Given the description of an element on the screen output the (x, y) to click on. 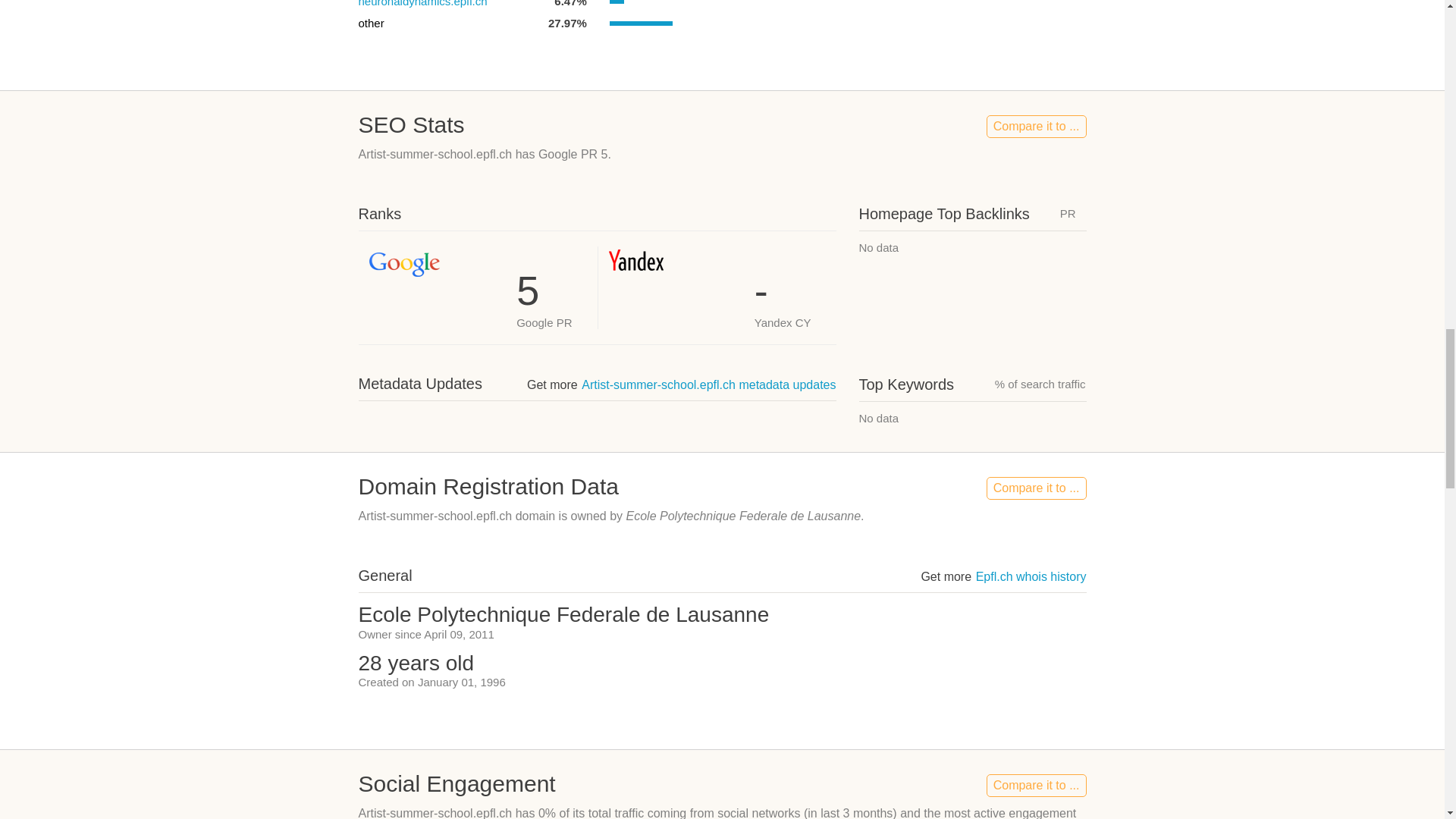
neuronaldynamics.epfl.ch (422, 3)
Epfl.ch whois history (1030, 576)
Artist-summer-school.epfl.ch metadata updates (707, 384)
Compare it to ... (1036, 126)
Compare it to ... (1036, 784)
Compare it to ... (1036, 487)
